Given the description of an element on the screen output the (x, y) to click on. 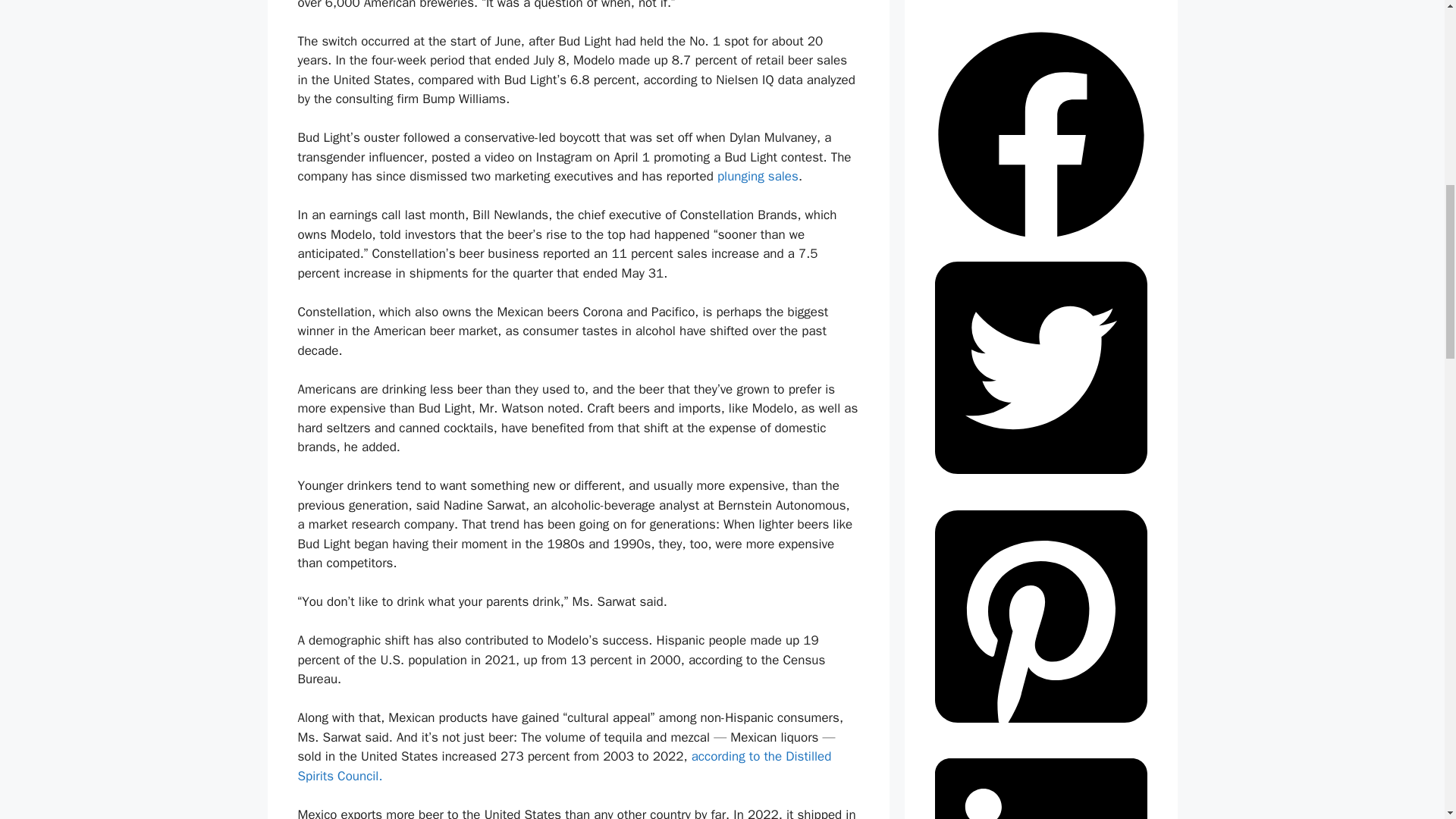
plunging sales (757, 176)
according to the Distilled Spirits Council. (564, 765)
